Given the description of an element on the screen output the (x, y) to click on. 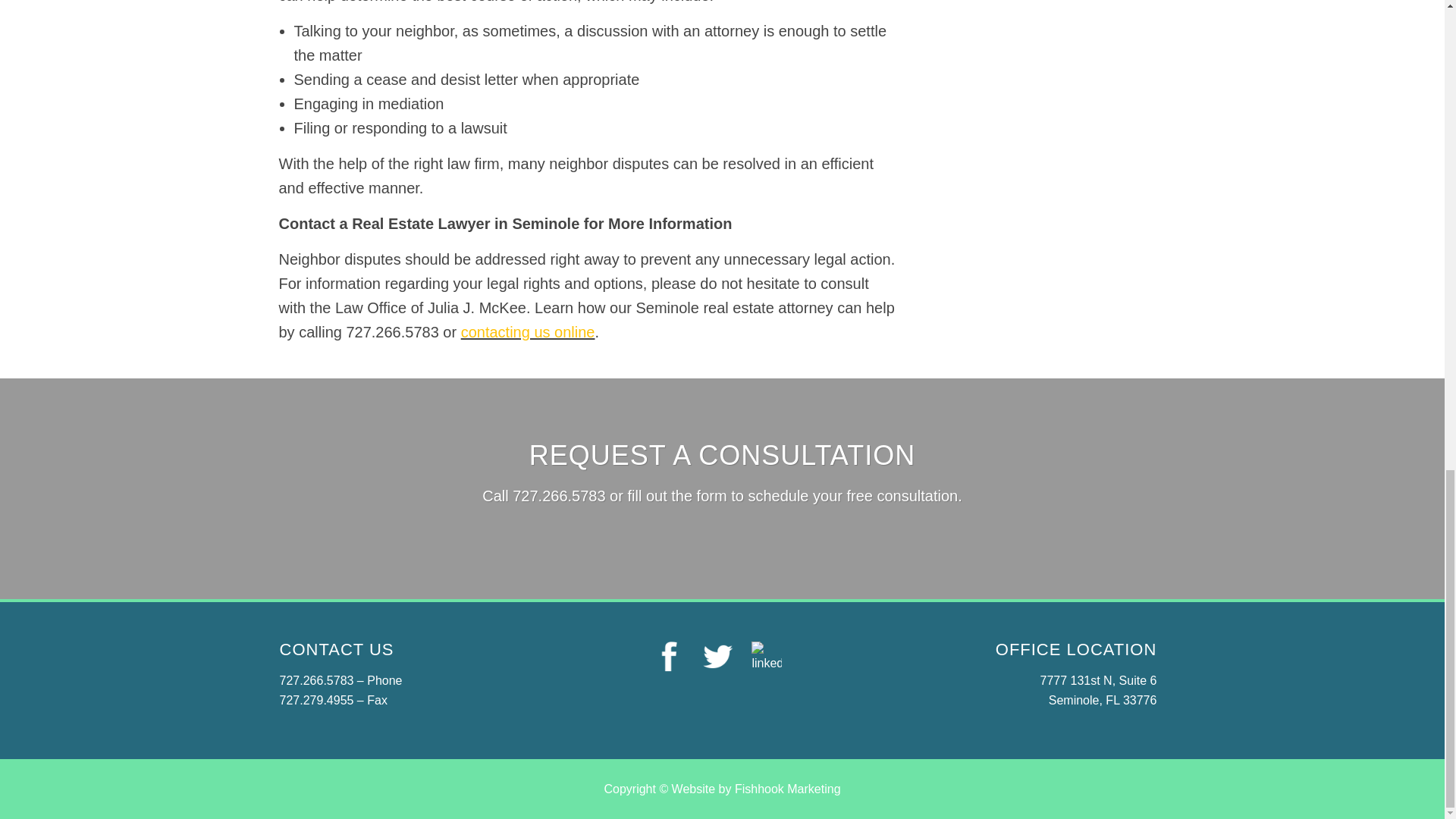
727.266.5783 (316, 680)
contacting us online (528, 331)
727.266.5783 (558, 495)
